Given the description of an element on the screen output the (x, y) to click on. 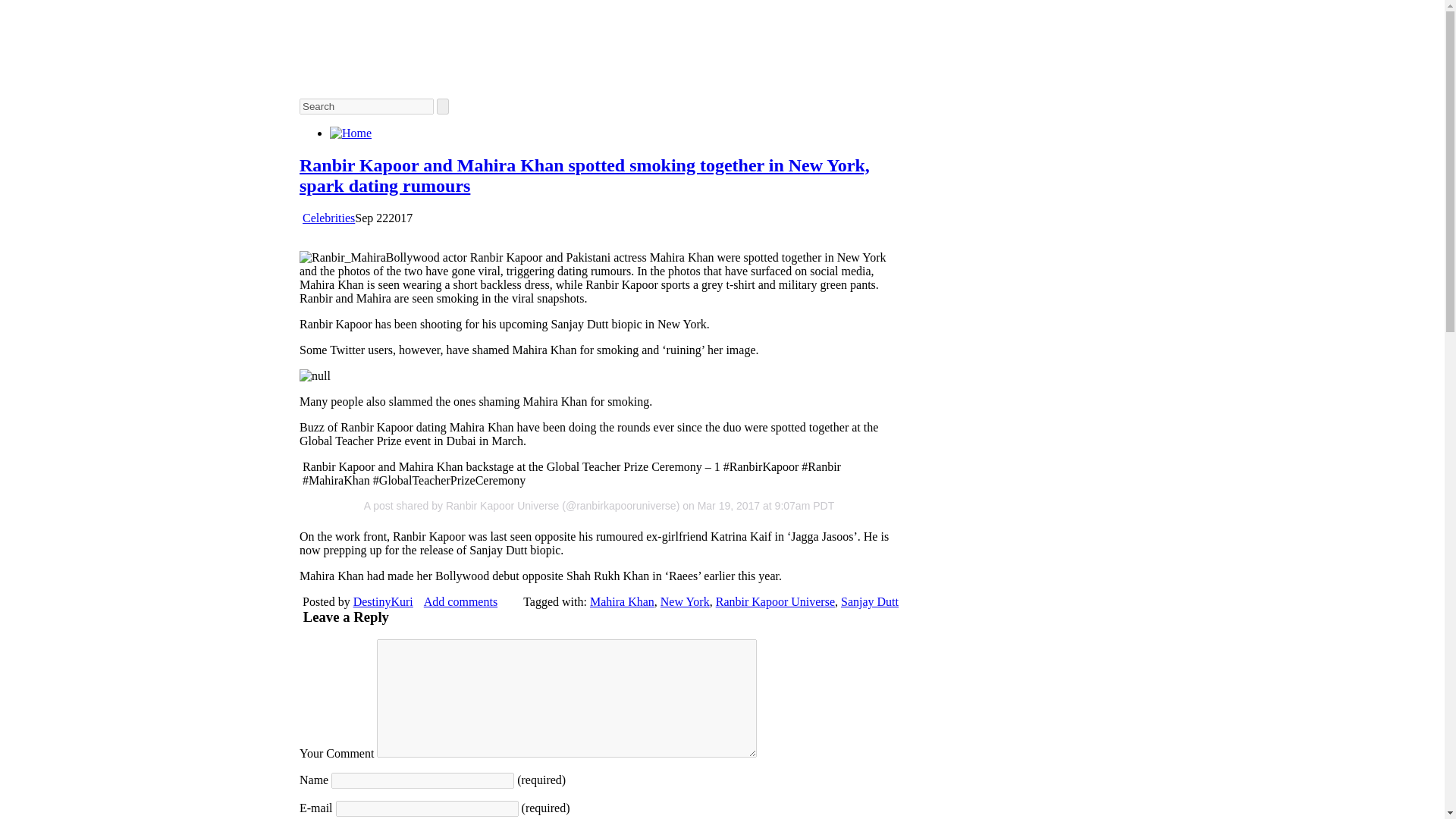
New York (685, 601)
Search (366, 106)
Mahira Khan (621, 601)
Sanjay Dutt (869, 601)
Celebrities (328, 217)
Ranbir Kapoor Universe (775, 601)
Add comments (460, 601)
DestinyKuri (383, 601)
Search (366, 106)
